Given the description of an element on the screen output the (x, y) to click on. 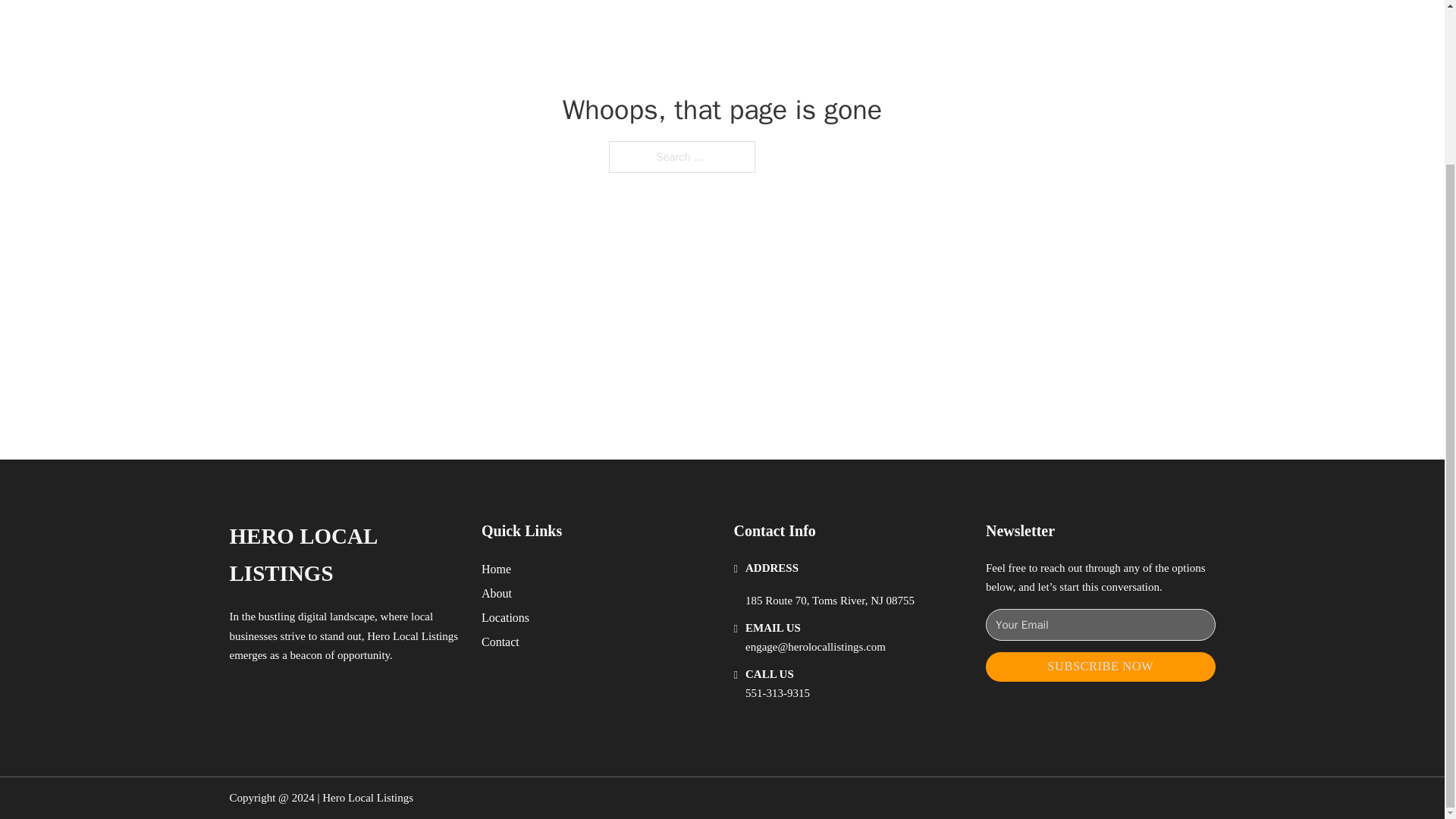
Locations (505, 617)
Contact (500, 641)
About (496, 593)
551-313-9315 (777, 693)
SUBSCRIBE NOW (1100, 666)
HERO LOCAL LISTINGS (343, 554)
Home (496, 568)
